Given the description of an element on the screen output the (x, y) to click on. 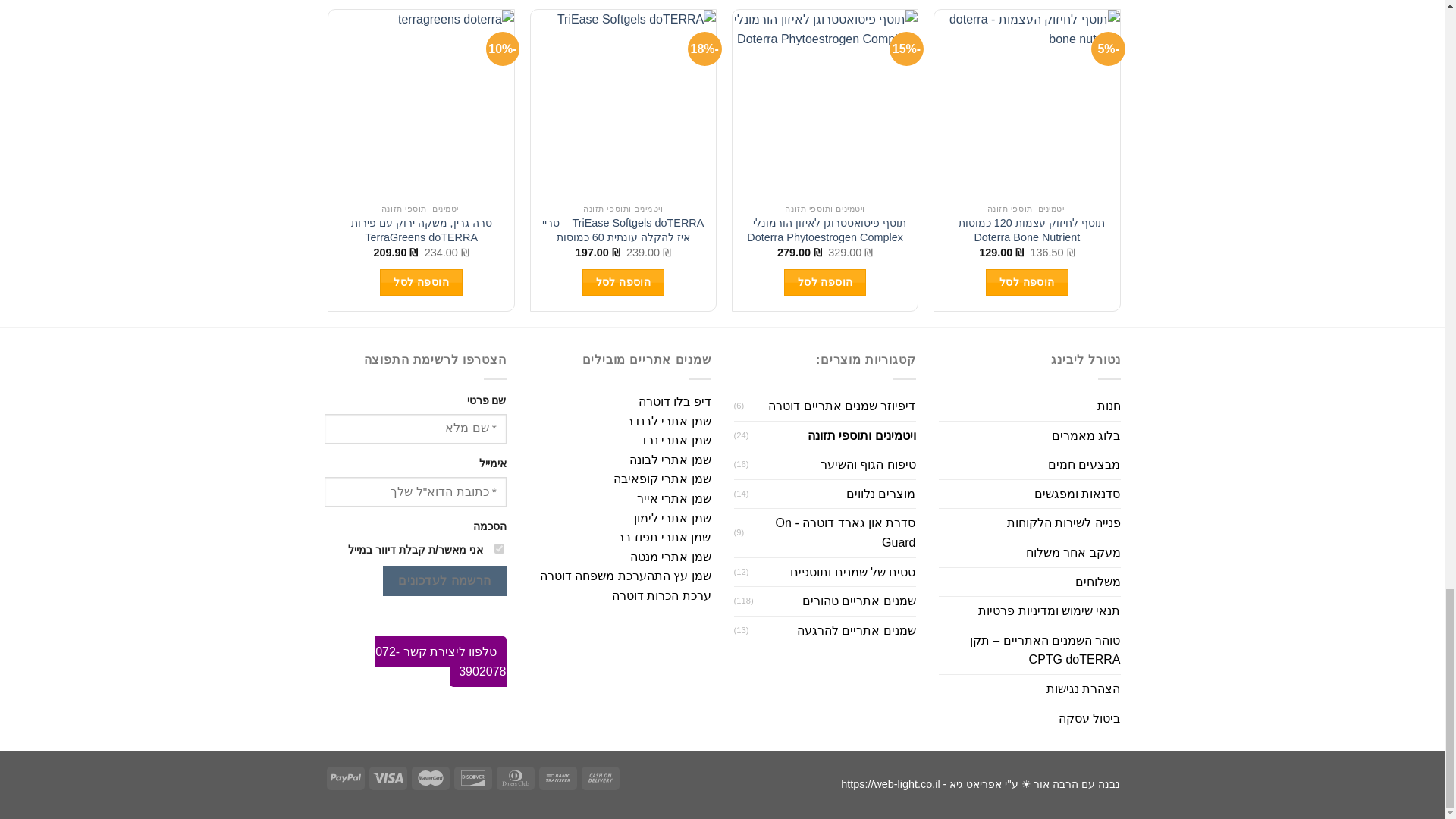
on (499, 548)
